Given the description of an element on the screen output the (x, y) to click on. 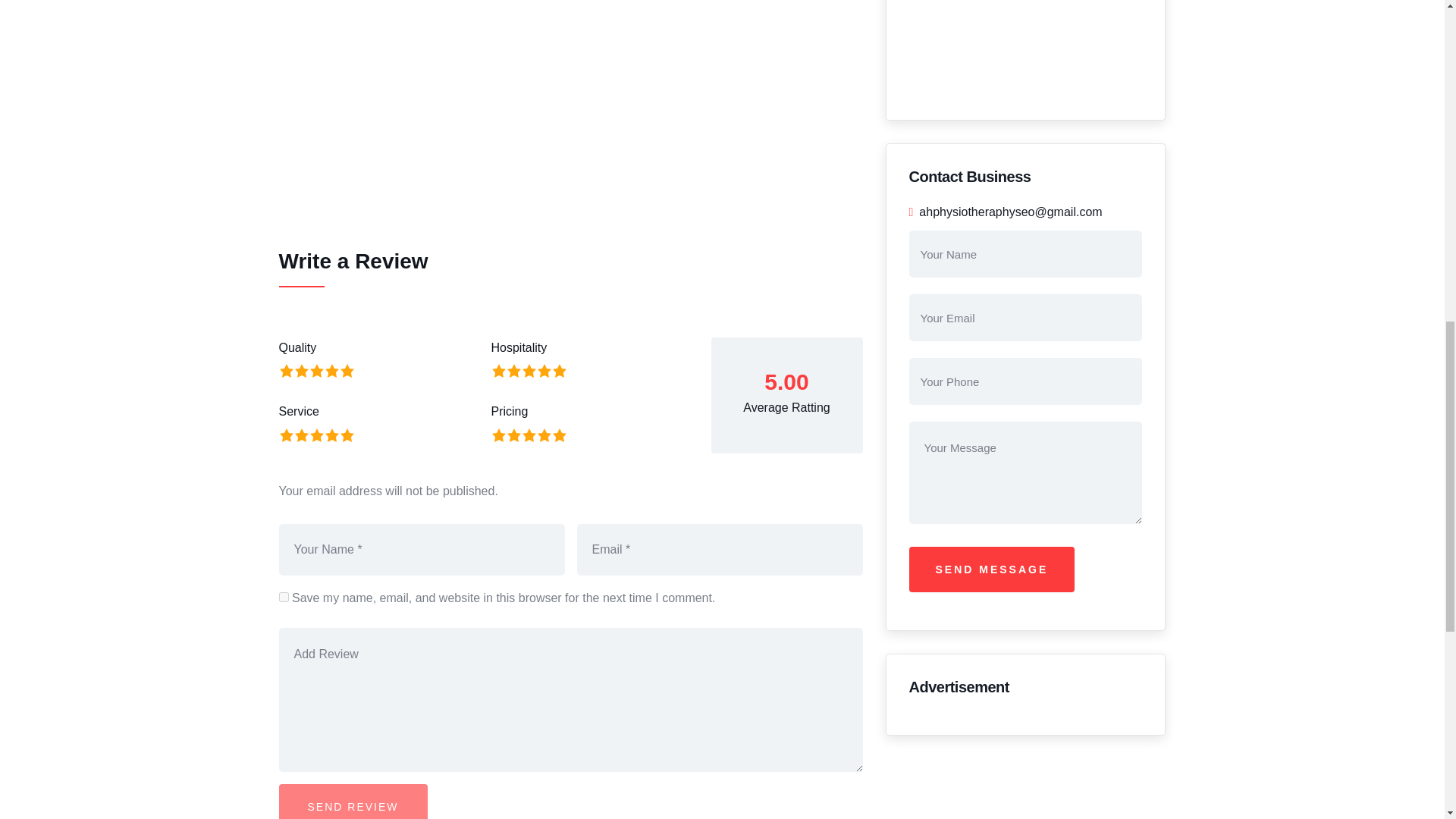
Advertisement (1024, 48)
yes (283, 596)
Send message (991, 569)
Advertisement (571, 104)
Send review (353, 801)
